Given the description of an element on the screen output the (x, y) to click on. 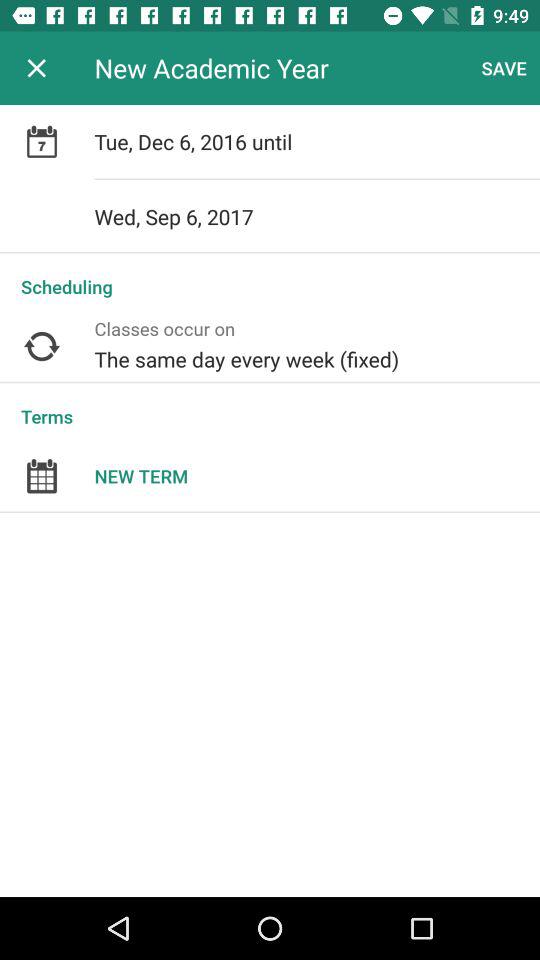
click item to the right of new academic year app (504, 68)
